Given the description of an element on the screen output the (x, y) to click on. 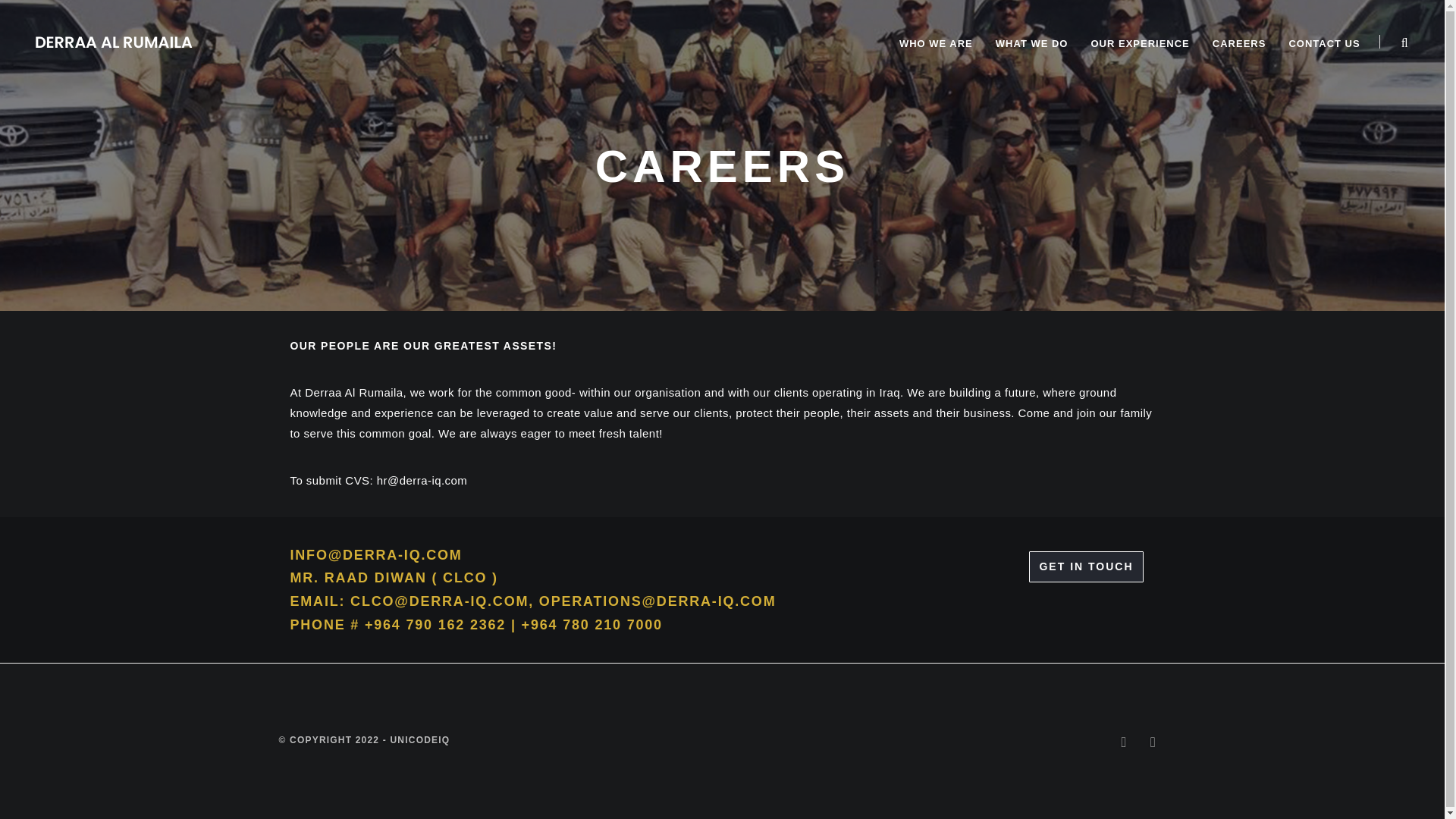
CONTACT US (1323, 43)
WHO WE ARE (936, 43)
Derraa Al Rumaila (113, 40)
OUR EXPERIENCE (1138, 43)
WHAT WE DO (1032, 43)
